Given the description of an element on the screen output the (x, y) to click on. 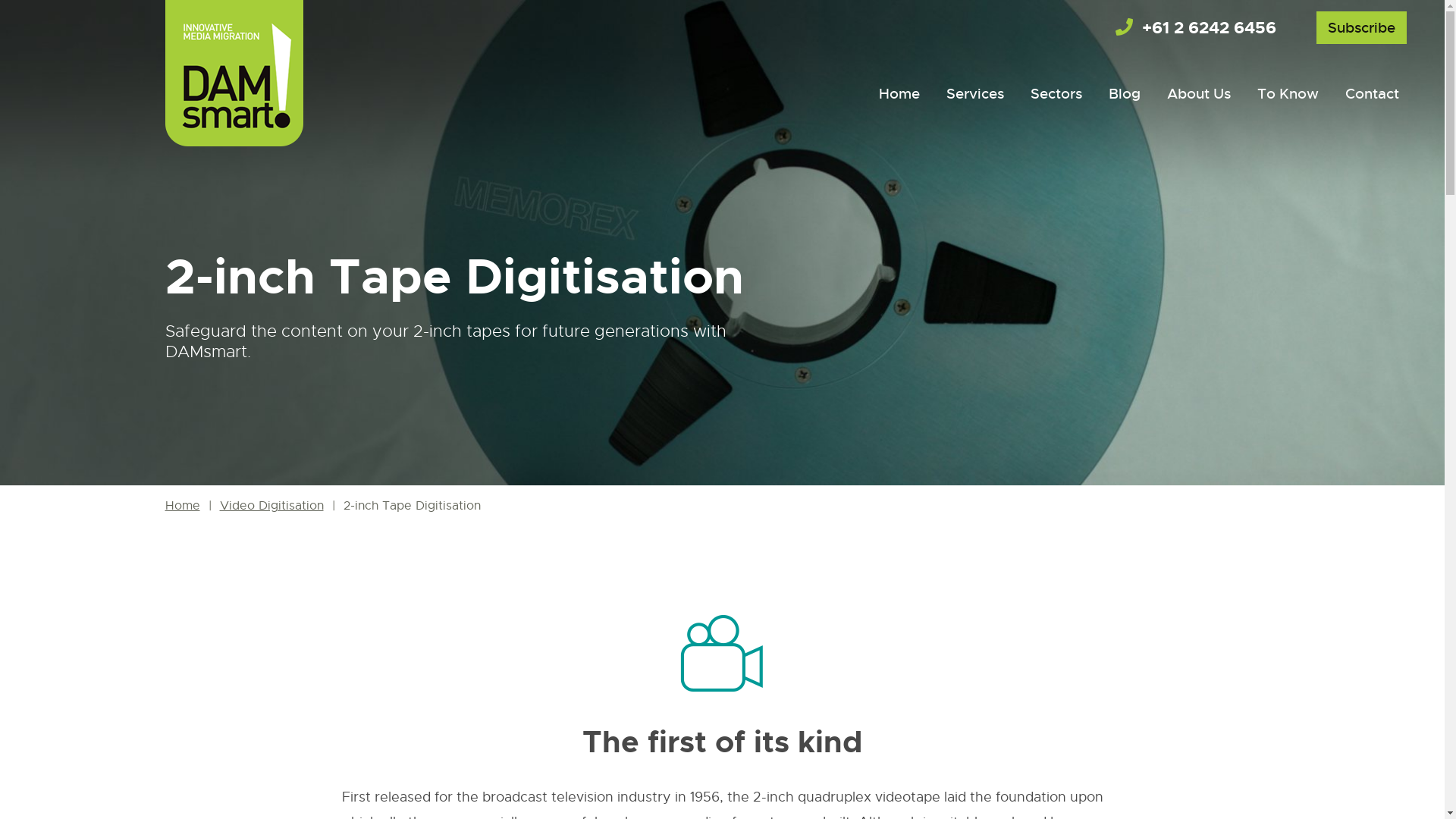
To Know Element type: text (1287, 95)
+61 2 6242 6456 Element type: text (1195, 27)
Home Element type: text (182, 505)
Home Element type: text (898, 95)
Video Digitisation Element type: text (271, 505)
Contact Element type: text (1372, 95)
Subscribe Element type: text (1361, 27)
Services Element type: text (975, 95)
Sectors Element type: text (1056, 95)
About Us Element type: text (1198, 95)
Blog Element type: text (1124, 95)
